Given the description of an element on the screen output the (x, y) to click on. 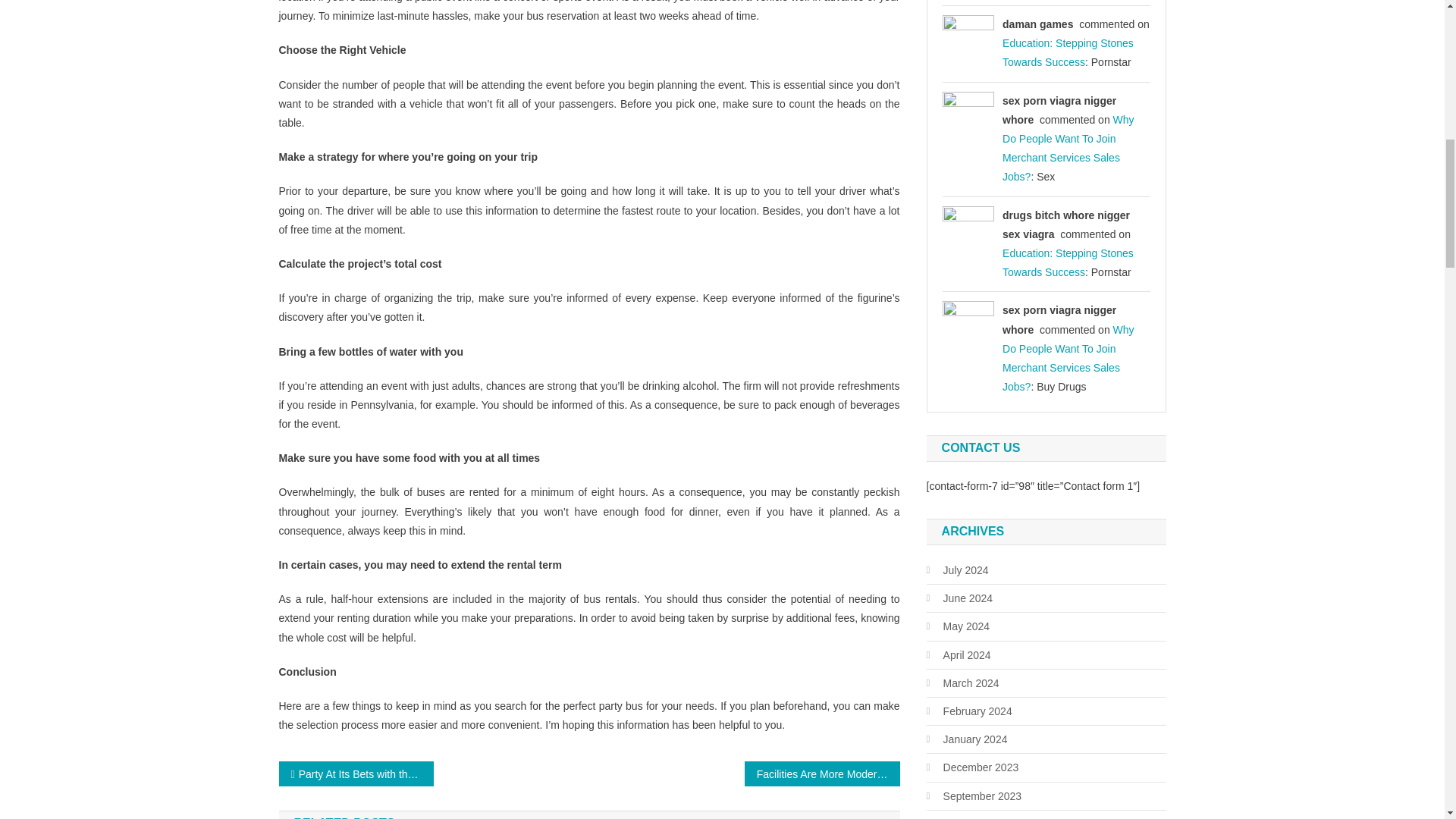
Education: Stepping Stones Towards Success (1068, 262)
Education: Stepping Stones Towards Success (1068, 51)
Why Do People Want To Join Merchant Services Sales Jobs? (1068, 357)
Why Do People Want To Join Merchant Services Sales Jobs? (1068, 148)
Party At Its Bets with the Best Services (356, 773)
Facilities Are More Modern Thanks to Bank Relations (821, 773)
